Given the description of an element on the screen output the (x, y) to click on. 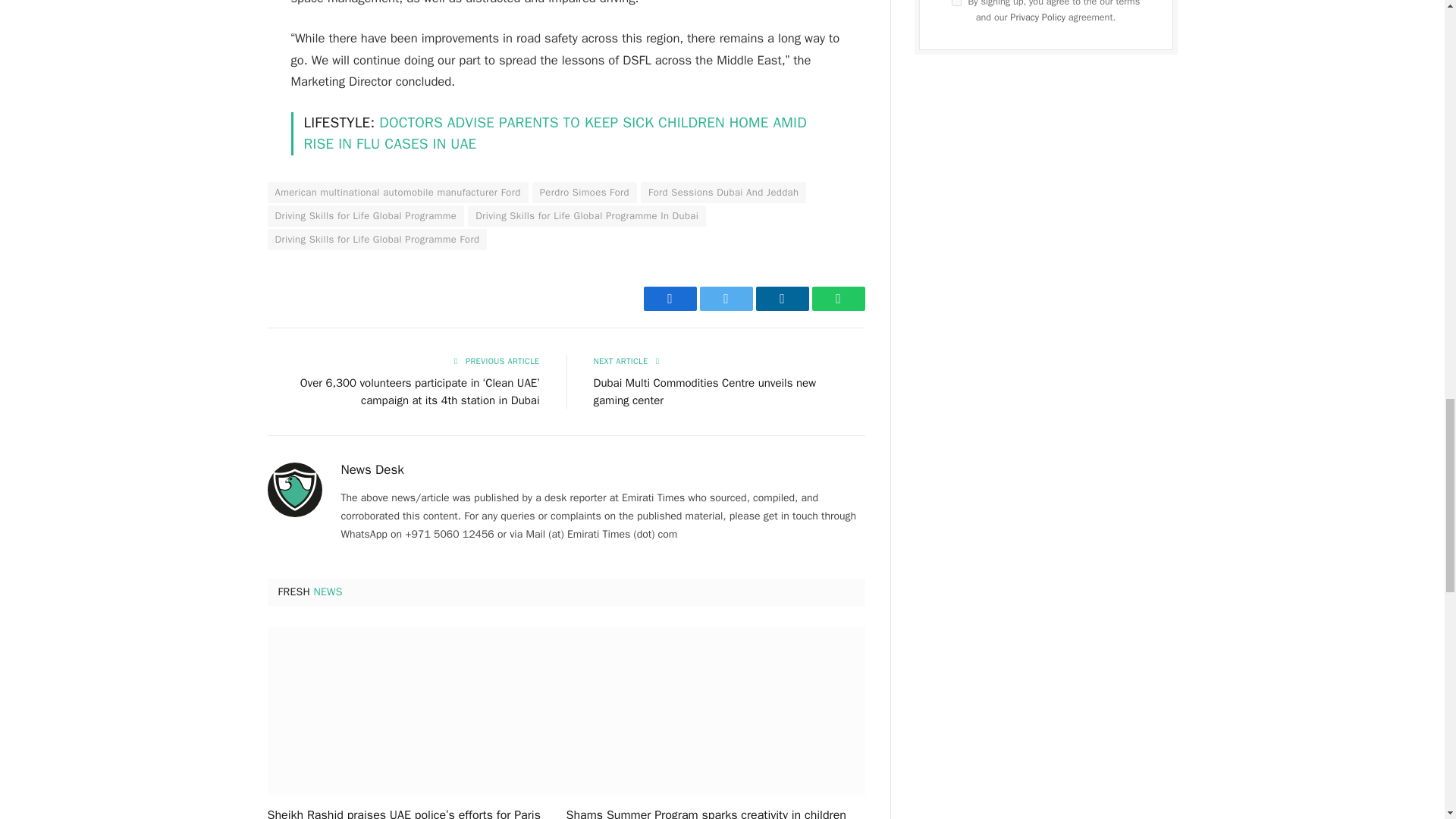
on (956, 2)
